Given the description of an element on the screen output the (x, y) to click on. 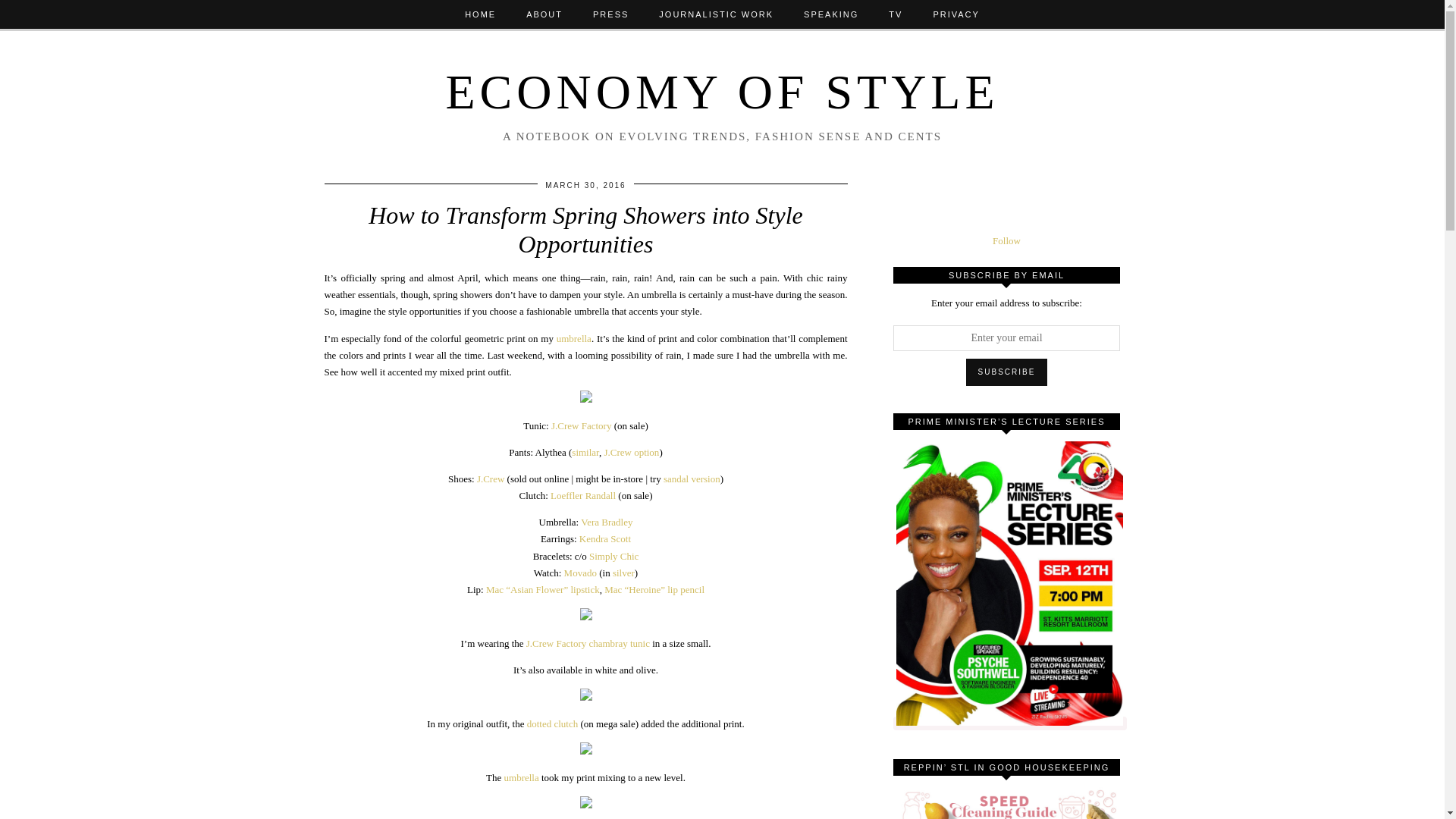
J.Crew Factory chambray tunic (587, 643)
TV (895, 14)
J.Crew (490, 478)
Subscribe (1007, 371)
Economy of Style (721, 91)
similar (585, 451)
ECONOMY OF STYLE (721, 91)
Movado (580, 572)
dotted clutch (552, 723)
sandal version (691, 478)
